Given the description of an element on the screen output the (x, y) to click on. 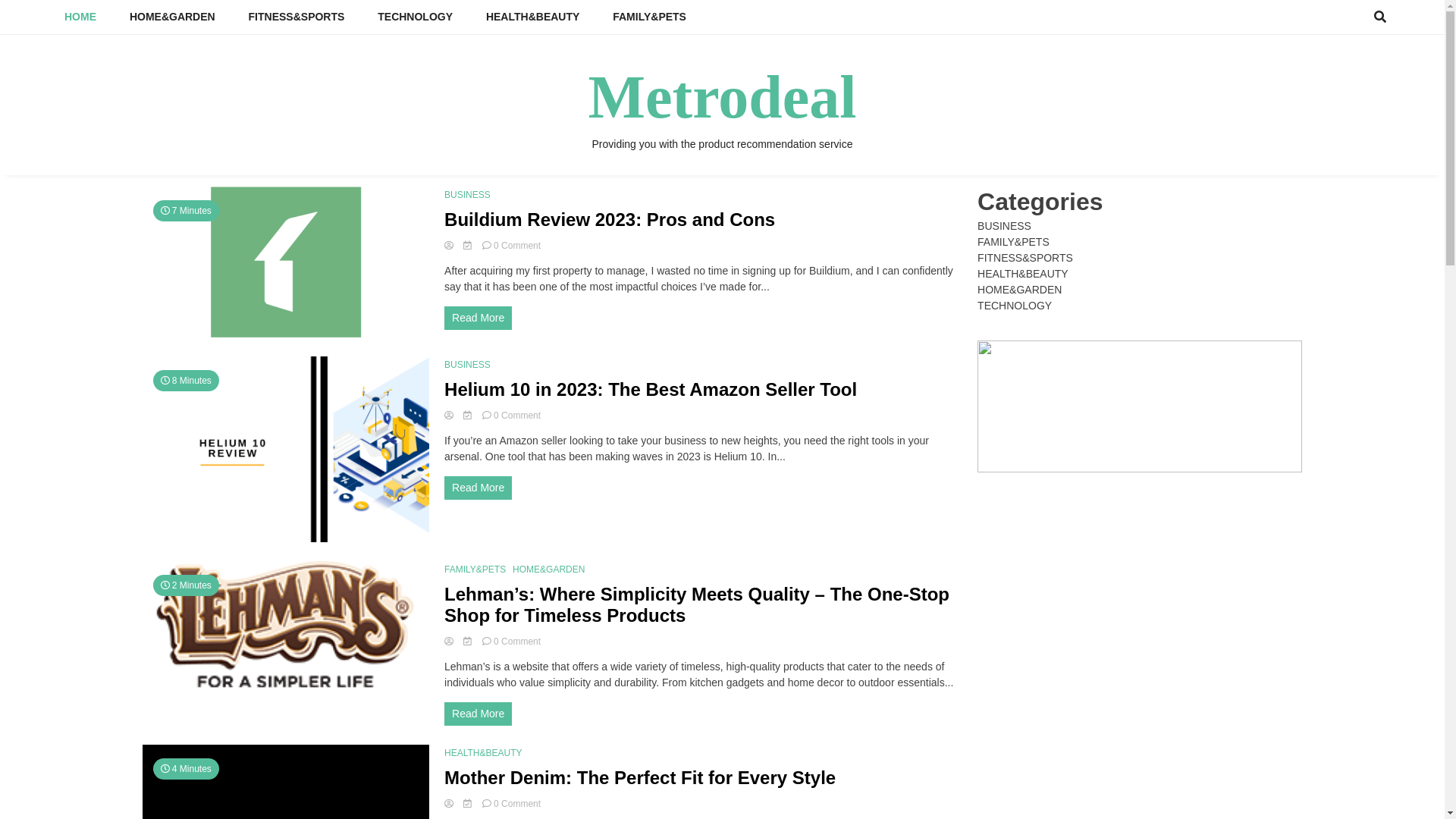
Buildium Review 2023: Pros and Cons Element type: text (609, 220)
Mother Denim: The Perfect Fit for Every Style Element type: text (639, 778)
BUSINESS Element type: text (469, 364)
HOME&GARDEN Element type: text (1019, 289)
Read More Element type: text (477, 713)
HEALTH&BEAUTY Element type: text (532, 17)
Metrodeal Element type: text (722, 96)
0 Comment
on Buildium Review 2023: Pros and Cons Element type: text (516, 245)
TECHNOLOGY Element type: text (1014, 305)
FAMILY&PETS Element type: text (1013, 241)
Read More Element type: text (477, 317)
HOME Element type: text (80, 17)
0 Comment
on Helium 10 in 2023: The Best Amazon Seller Tool Element type: text (516, 415)
BUSINESS Element type: text (469, 194)
FITNESS&SPORTS Element type: text (296, 17)
HOME&GARDEN Element type: text (172, 17)
FITNESS&SPORTS Element type: text (1025, 257)
0 Comment
on Mother Denim: The Perfect Fit for Every Style Element type: text (516, 803)
HEALTH&BEAUTY Element type: text (1022, 273)
HEALTH&BEAUTY Element type: text (484, 752)
BUSINESS Element type: text (1004, 225)
Read More Element type: text (477, 487)
FAMILY&PETS Element type: text (649, 17)
HOME&GARDEN Element type: text (550, 569)
TECHNOLOGY Element type: text (414, 17)
FAMILY&PETS Element type: text (476, 569)
Helium 10 in 2023: The Best Amazon Seller Tool Element type: text (650, 390)
